Given the description of an element on the screen output the (x, y) to click on. 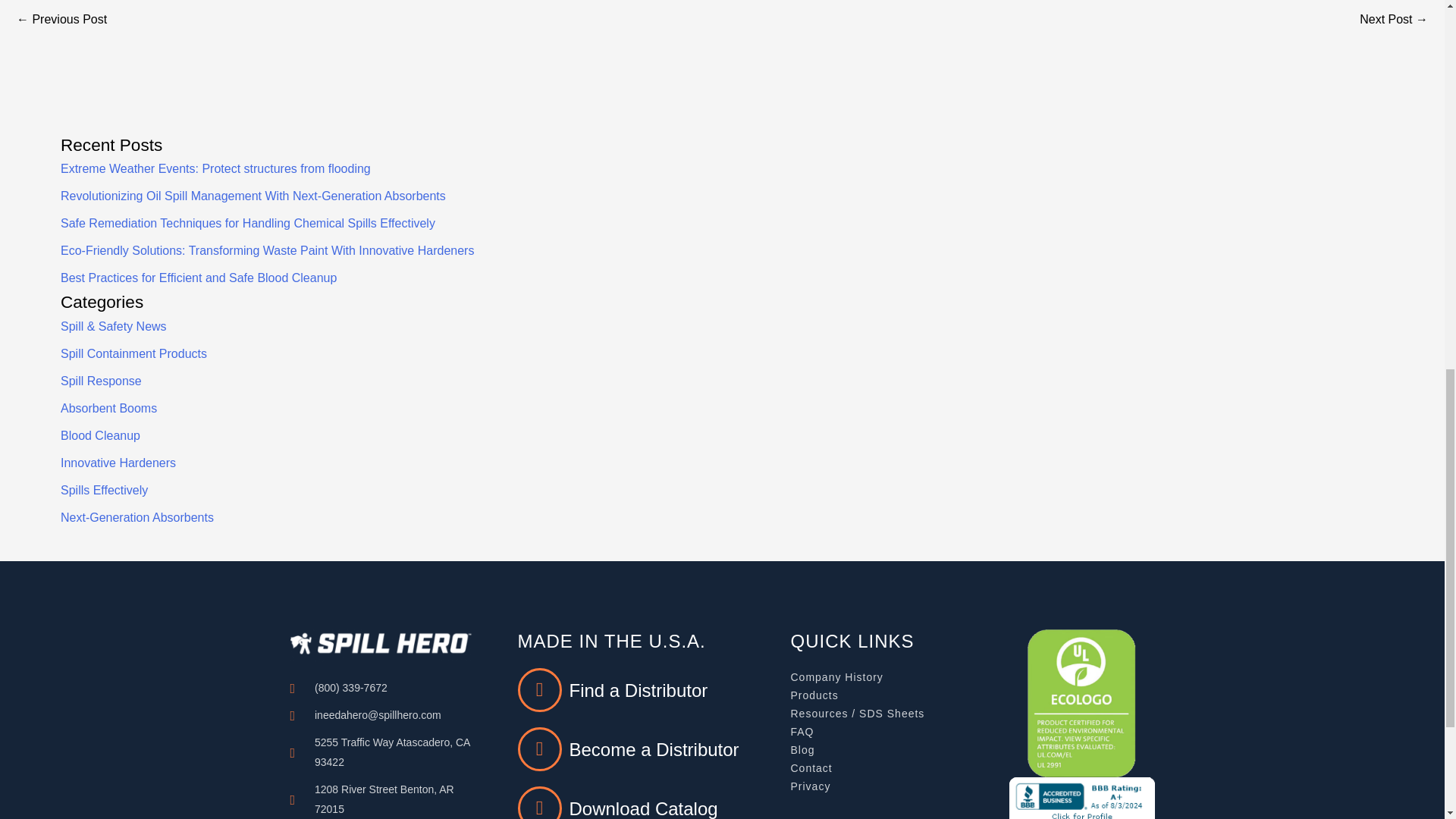
What Season Is This? (61, 20)
Are You Blue? That Can Be Positive! (1393, 20)
